Given the description of an element on the screen output the (x, y) to click on. 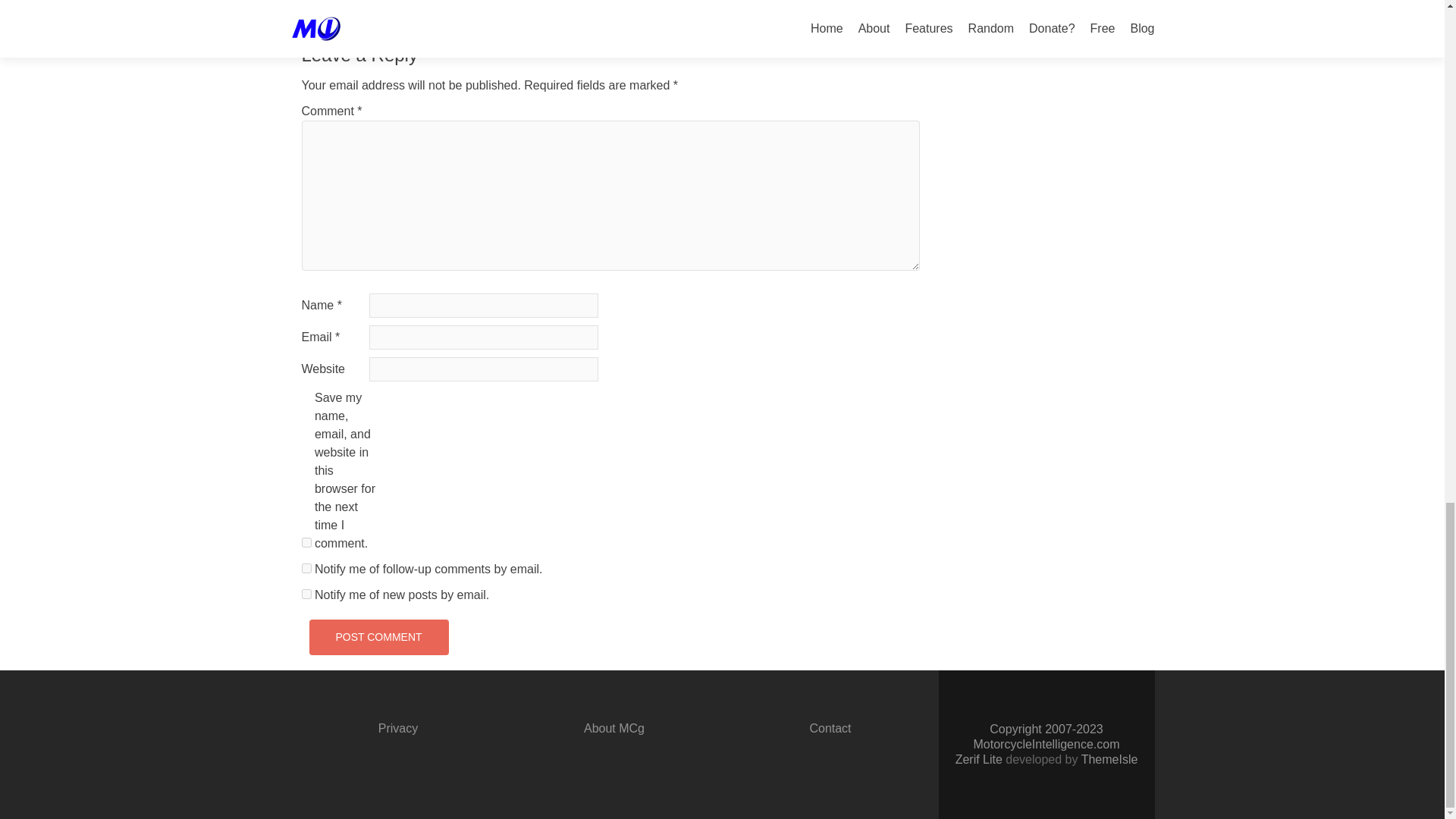
subscribe (306, 593)
subscribe (306, 568)
Post Comment (378, 637)
Post Comment (378, 637)
yes (306, 542)
